Given the description of an element on the screen output the (x, y) to click on. 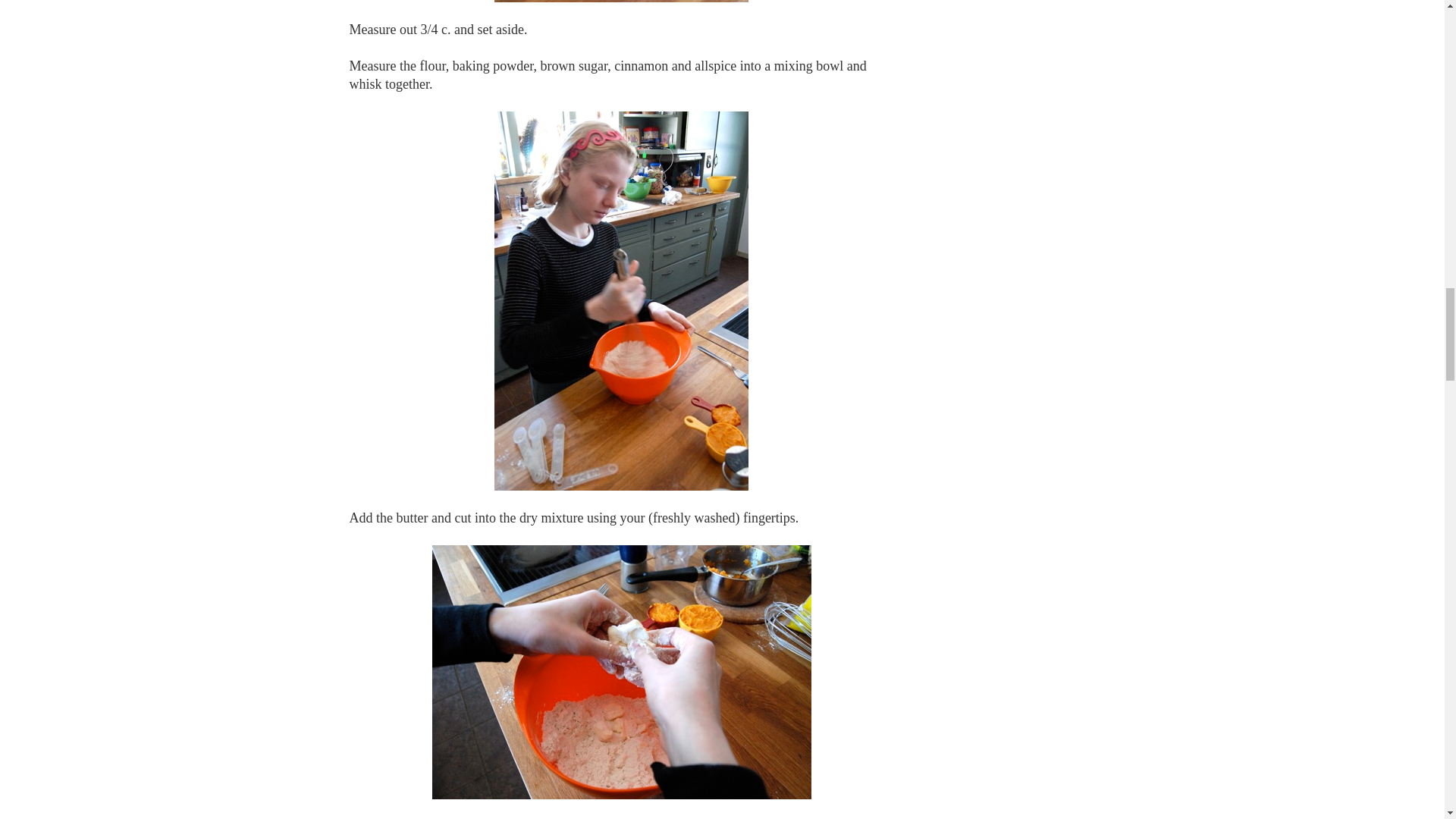
cutting in butter (621, 672)
